Given the description of an element on the screen output the (x, y) to click on. 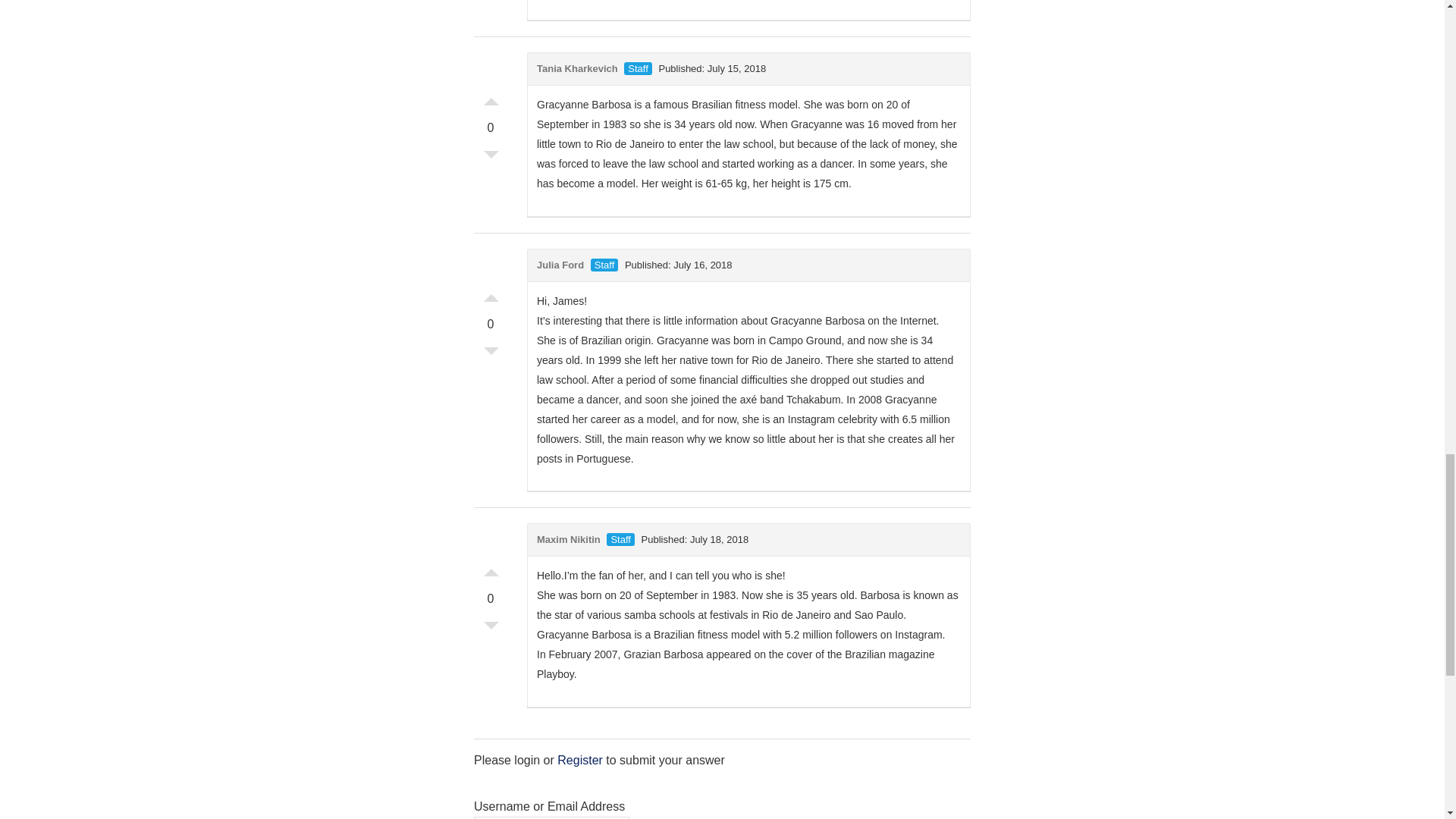
Tania Kharkevich (577, 68)
Vote Down (491, 158)
Vote Up (491, 97)
